Given the description of an element on the screen output the (x, y) to click on. 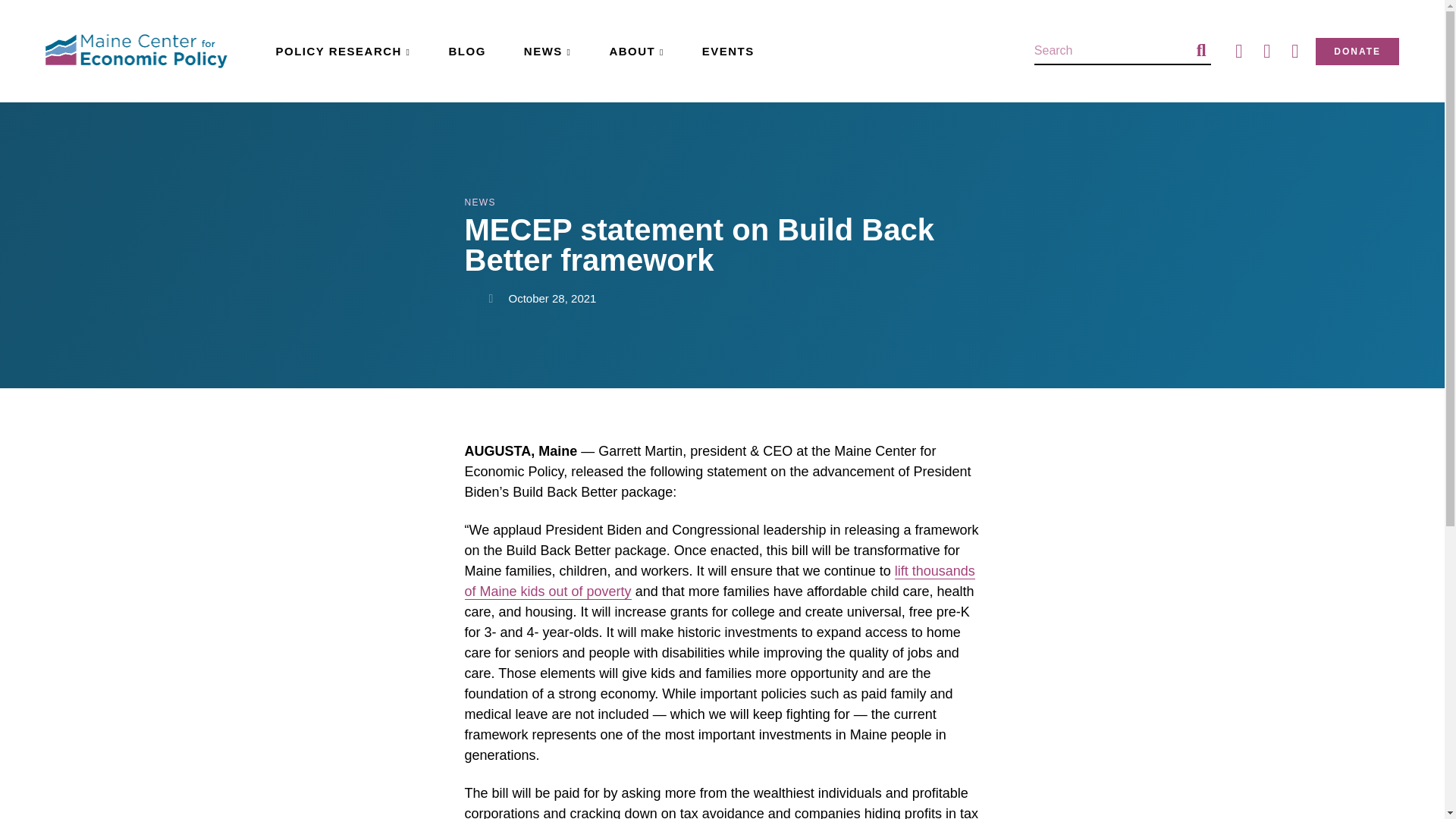
POLICY RESEARCH (342, 51)
NEWS (479, 202)
BLOG (466, 51)
NEWS (548, 51)
DONATE (1357, 51)
lift thousands of Maine kids out of poverty (719, 581)
ABOUT (635, 51)
EVENTS (727, 51)
